Given the description of an element on the screen output the (x, y) to click on. 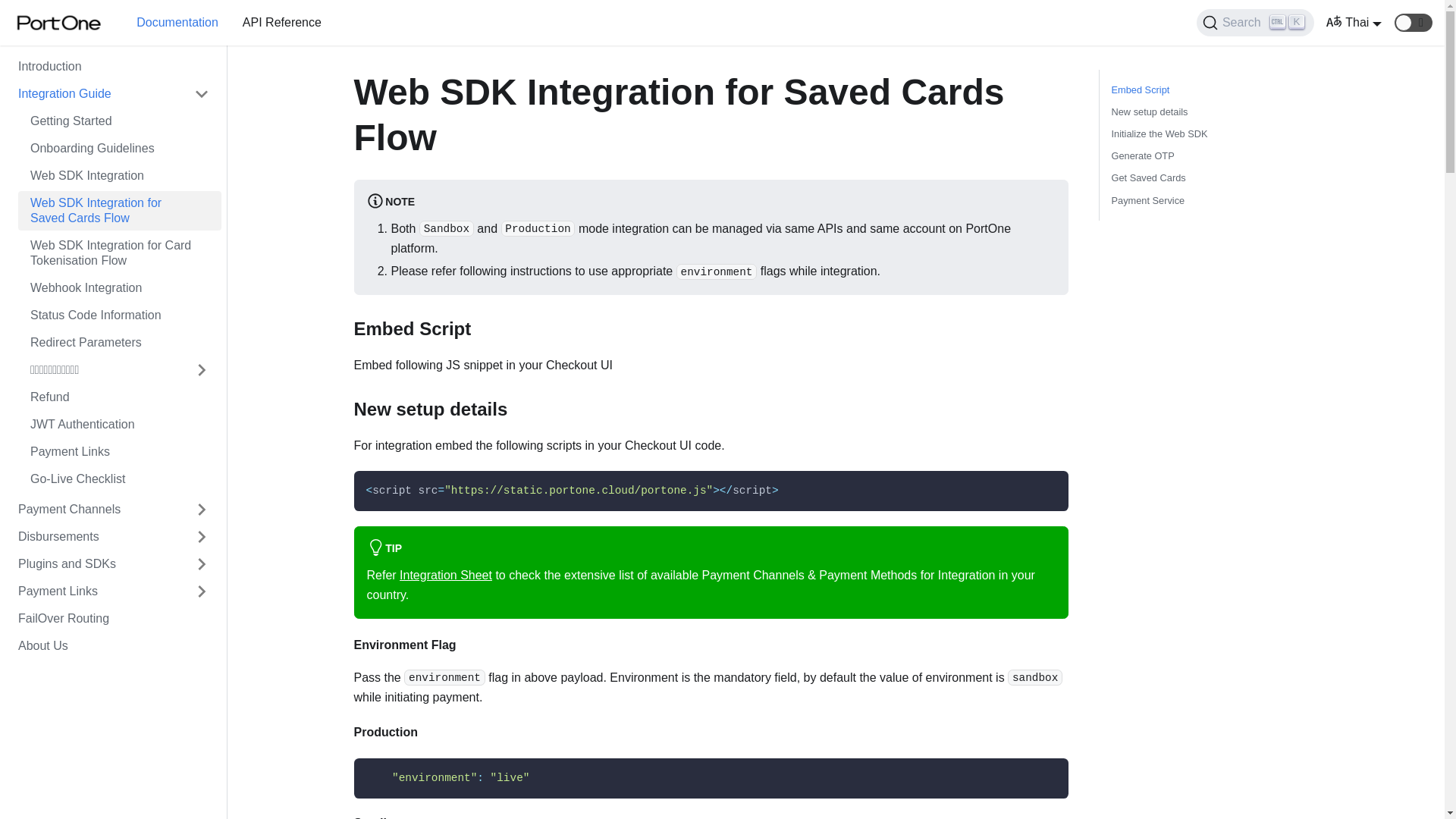
Go-Live Checklist (119, 478)
Payment Links (119, 451)
Refund (119, 396)
Status Code Information (119, 315)
Redirect Parameters (119, 342)
Onboarding Guidelines (119, 148)
Web SDK Integration for Saved Cards Flow (119, 210)
Web SDK Integration for Card Tokenisation Flow (119, 252)
